Given the description of an element on the screen output the (x, y) to click on. 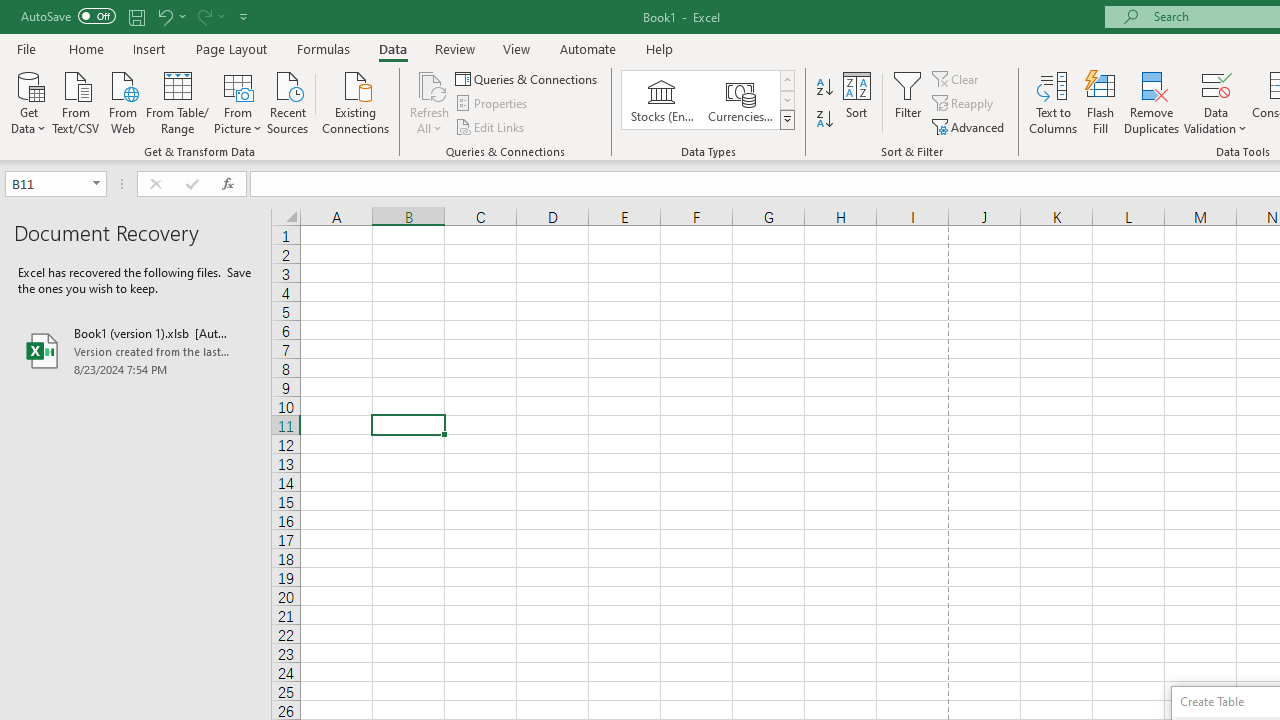
From Text/CSV (75, 101)
Reapply (964, 103)
Currencies (English) (740, 100)
Advanced... (970, 126)
Queries & Connections (527, 78)
Sort... (856, 102)
Recent Sources (287, 101)
